Given the description of an element on the screen output the (x, y) to click on. 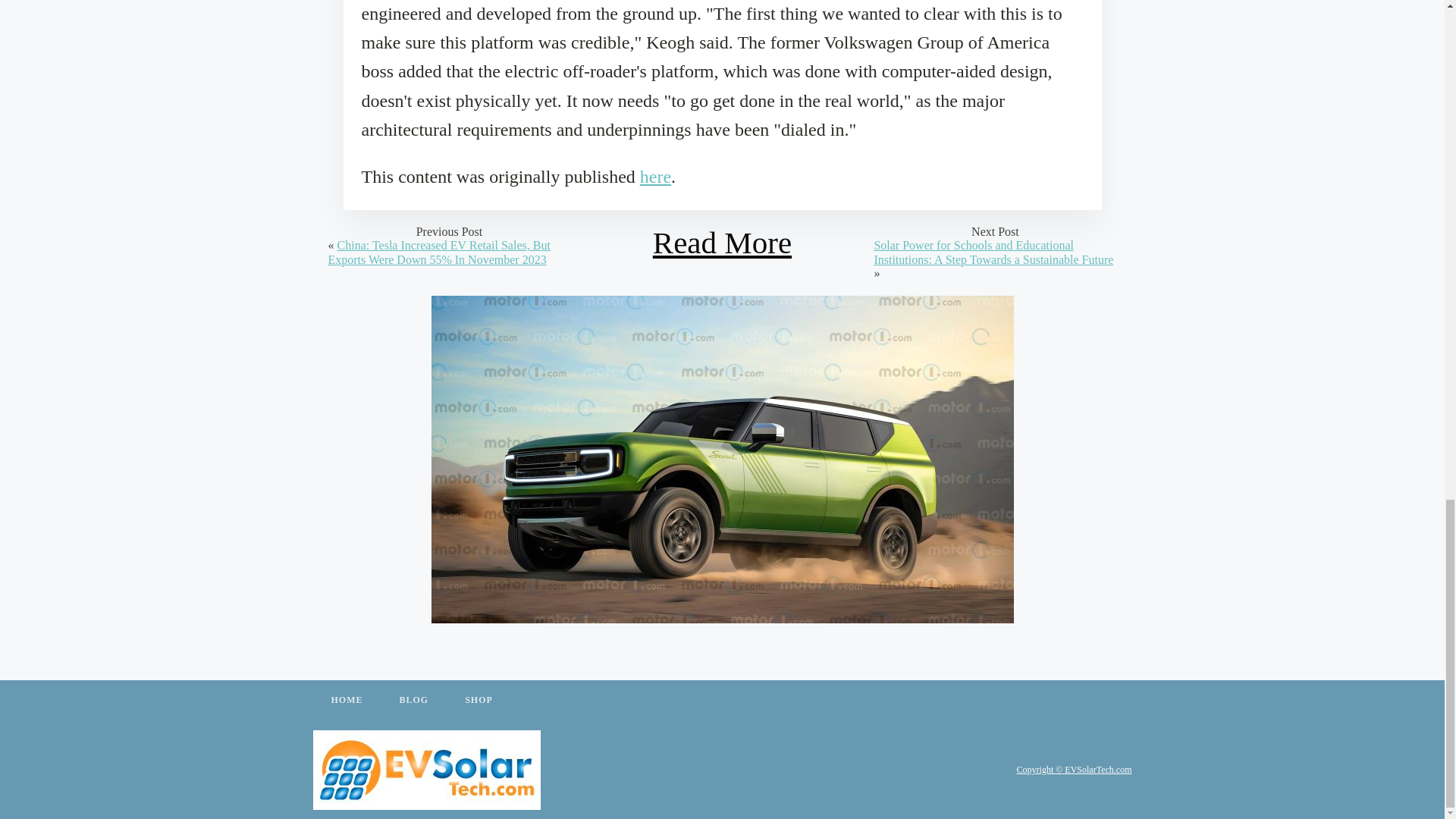
BLOG (413, 700)
Read More (722, 243)
SHOP (478, 700)
HOME (346, 700)
here (655, 176)
